Given the description of an element on the screen output the (x, y) to click on. 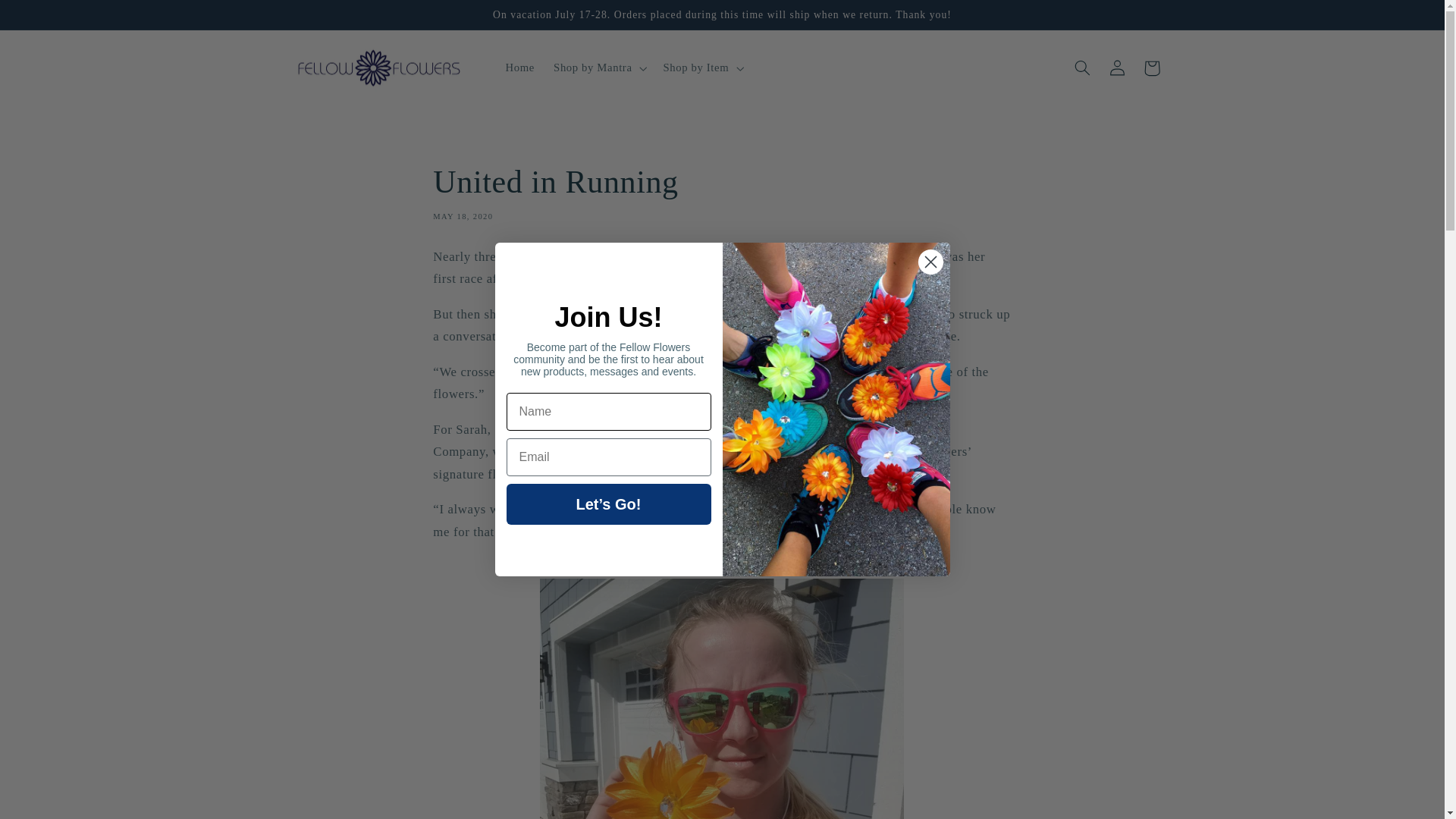
Close dialog 1 (930, 261)
Skip to content (48, 18)
